Given the description of an element on the screen output the (x, y) to click on. 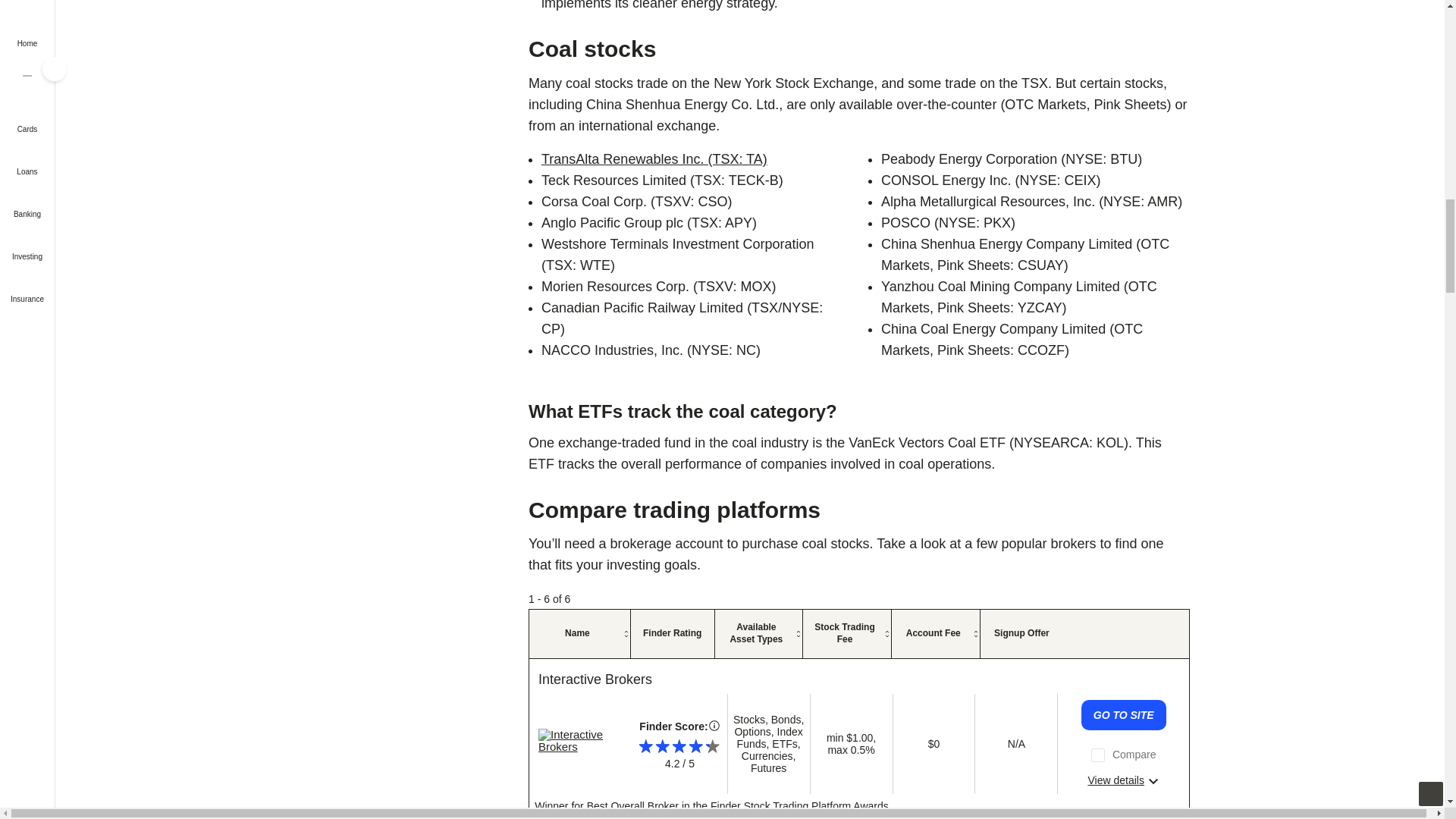
Read More About The Interactive Brokers (1123, 780)
Visit Interactive Brokers (580, 740)
Apply Now For The Interactive Brokers (1123, 715)
Visit Interactive Brokers (595, 679)
